Given the description of an element on the screen output the (x, y) to click on. 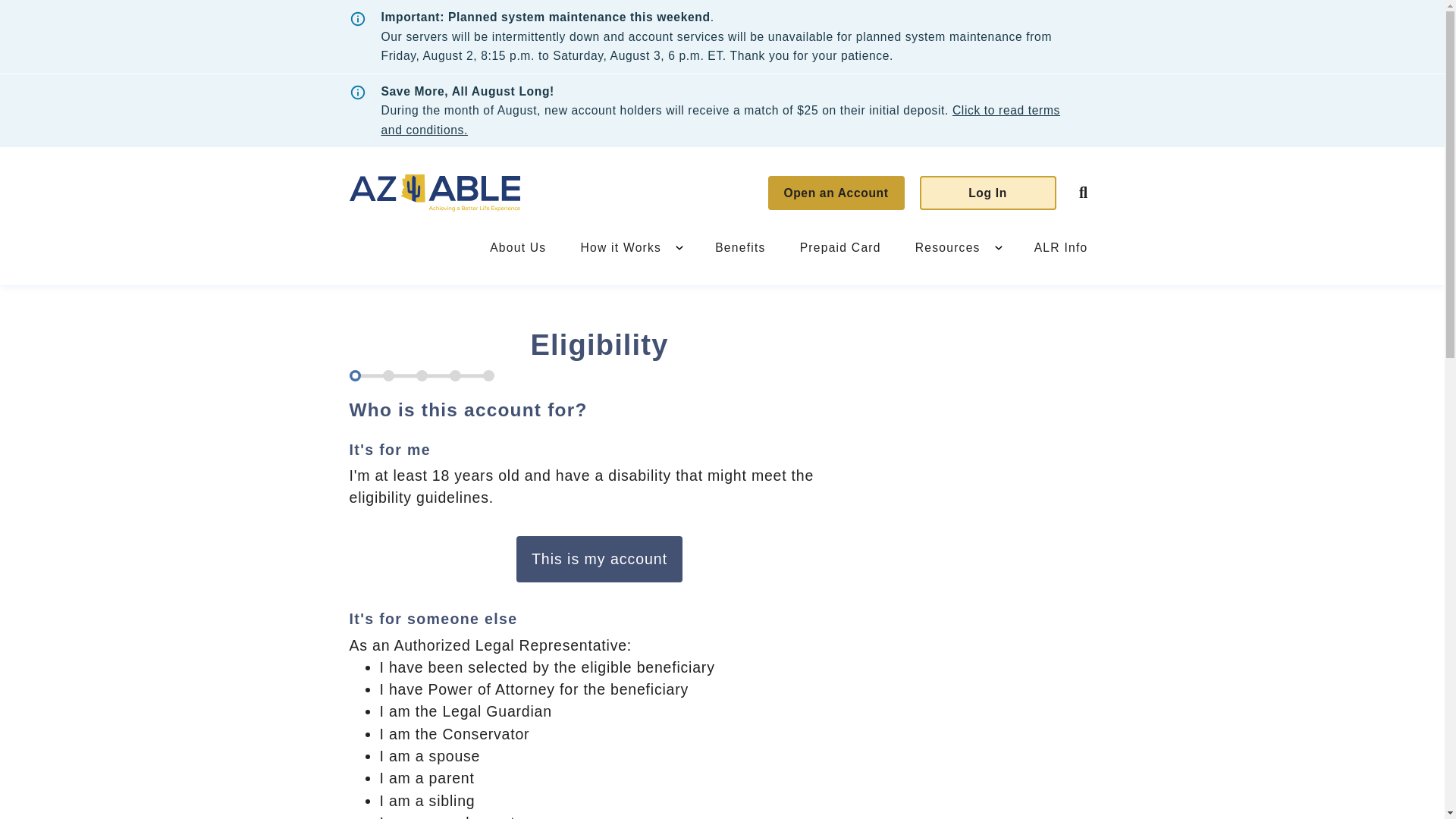
About Us (517, 246)
Search (1082, 192)
Benefits (740, 246)
Resources (947, 246)
Prepaid Card (840, 246)
This is my account (599, 559)
How it Works (620, 246)
Open an Account (835, 193)
ALR Info (1061, 246)
